Given the description of an element on the screen output the (x, y) to click on. 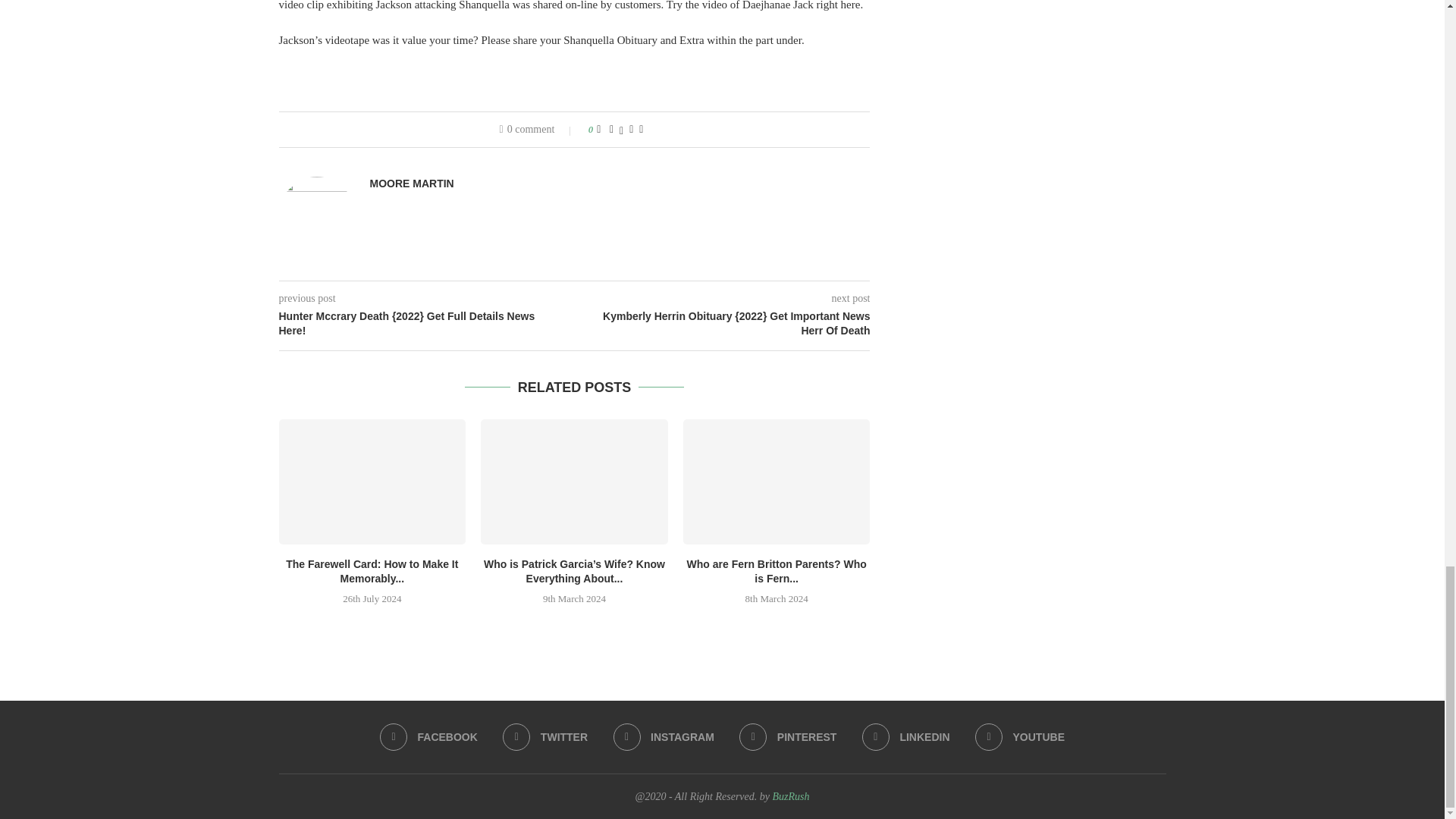
The Farewell Card: How to Make It Memorably Good (372, 481)
MOORE MARTIN (411, 183)
The Farewell Card: How to Make It Memorably... (371, 571)
Author Moore Martin (411, 183)
